Given the description of an element on the screen output the (x, y) to click on. 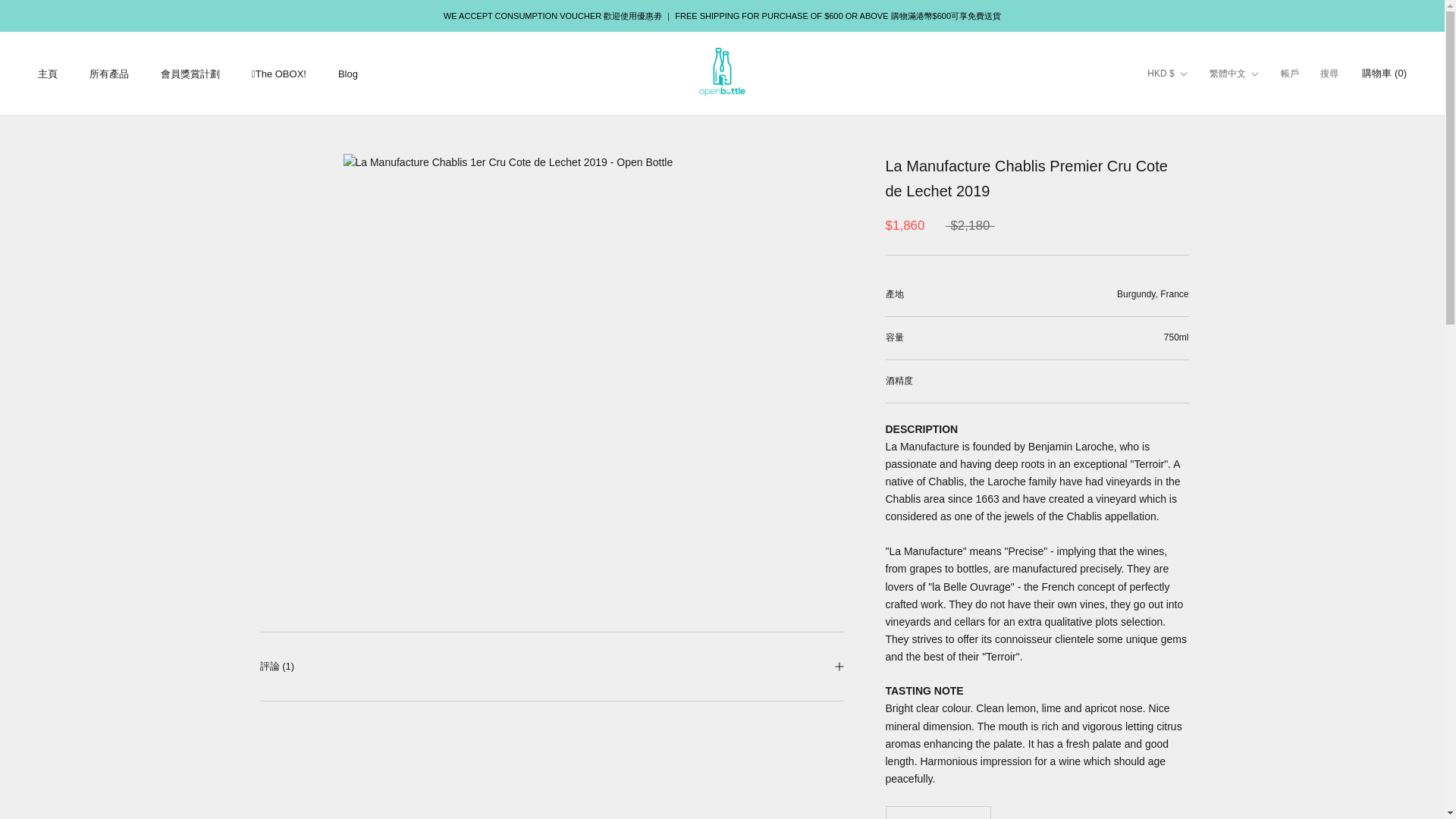
1 (938, 817)
